Given the description of an element on the screen output the (x, y) to click on. 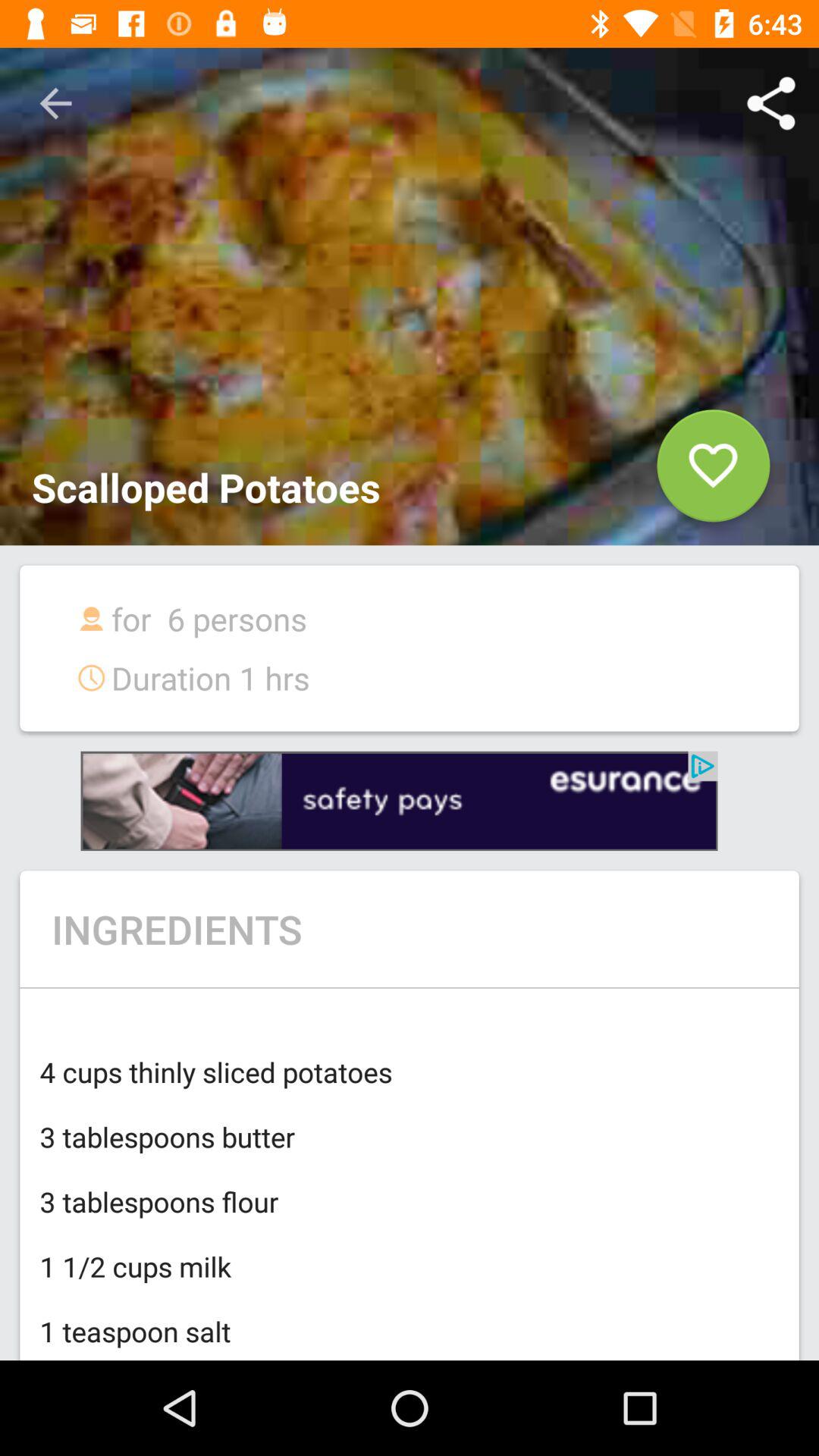
advertisement (398, 800)
